Given the description of an element on the screen output the (x, y) to click on. 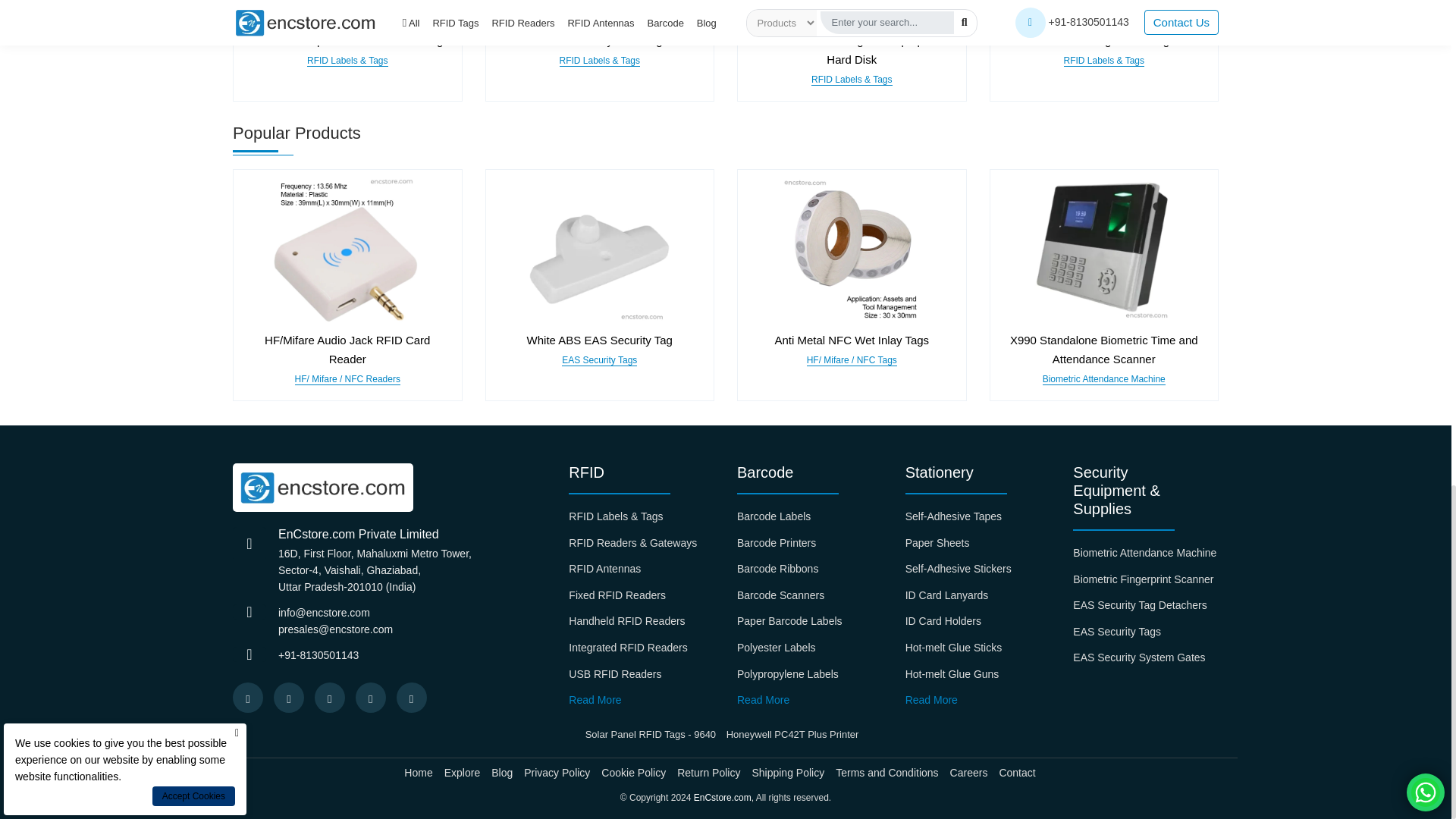
Biometric Attendance Machine (1103, 249)
UHF RFID Tags (1103, 15)
UHF RFID Tags (851, 15)
Submit (885, 208)
UHF RFID Key Fobs Tags (599, 15)
White ABS EAS Security Tag (599, 249)
UHF RFID Tags (347, 15)
EnCstore.com Private Limited (322, 487)
